Given the description of an element on the screen output the (x, y) to click on. 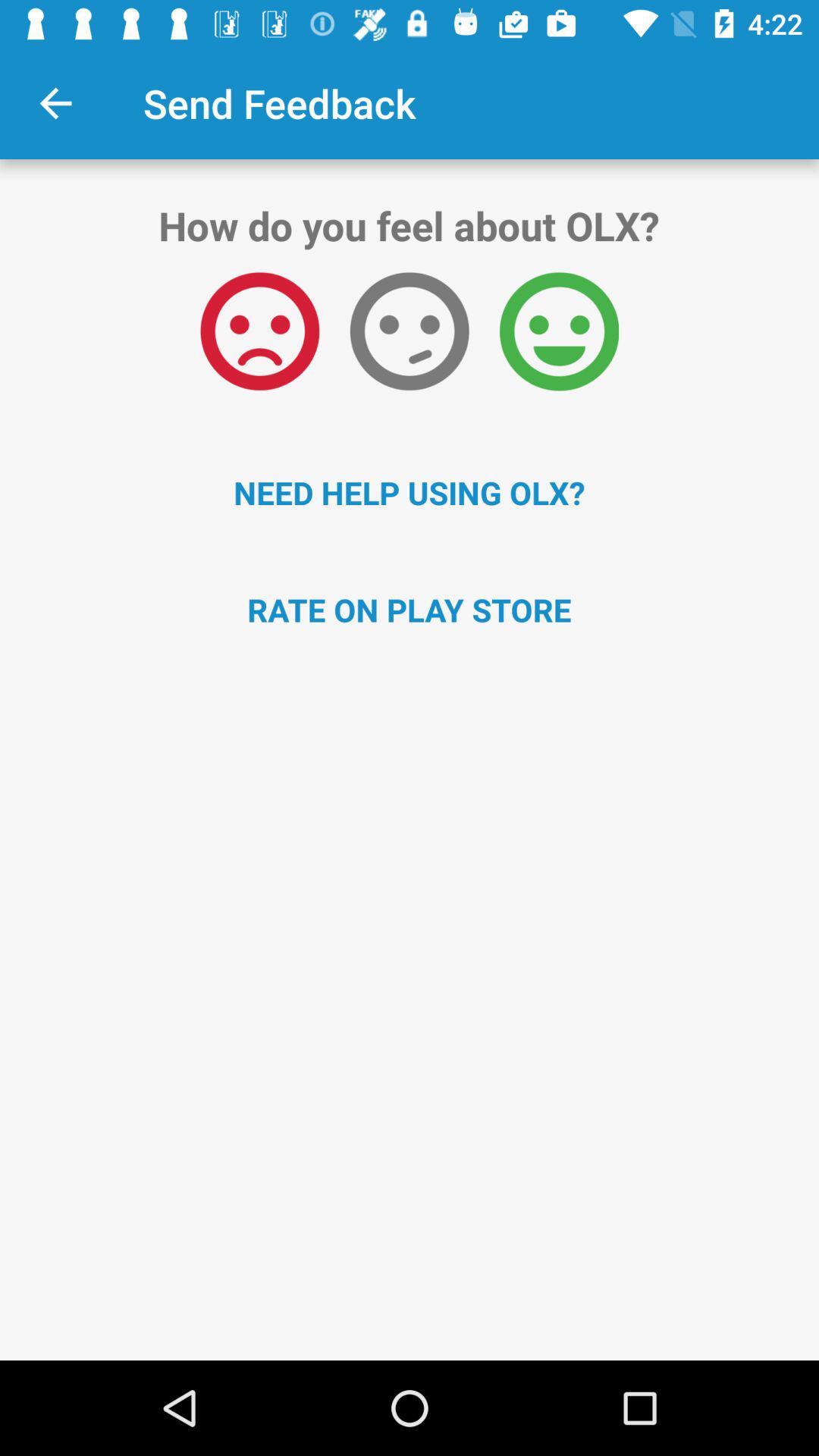
turn off the icon below how do you icon (259, 331)
